Given the description of an element on the screen output the (x, y) to click on. 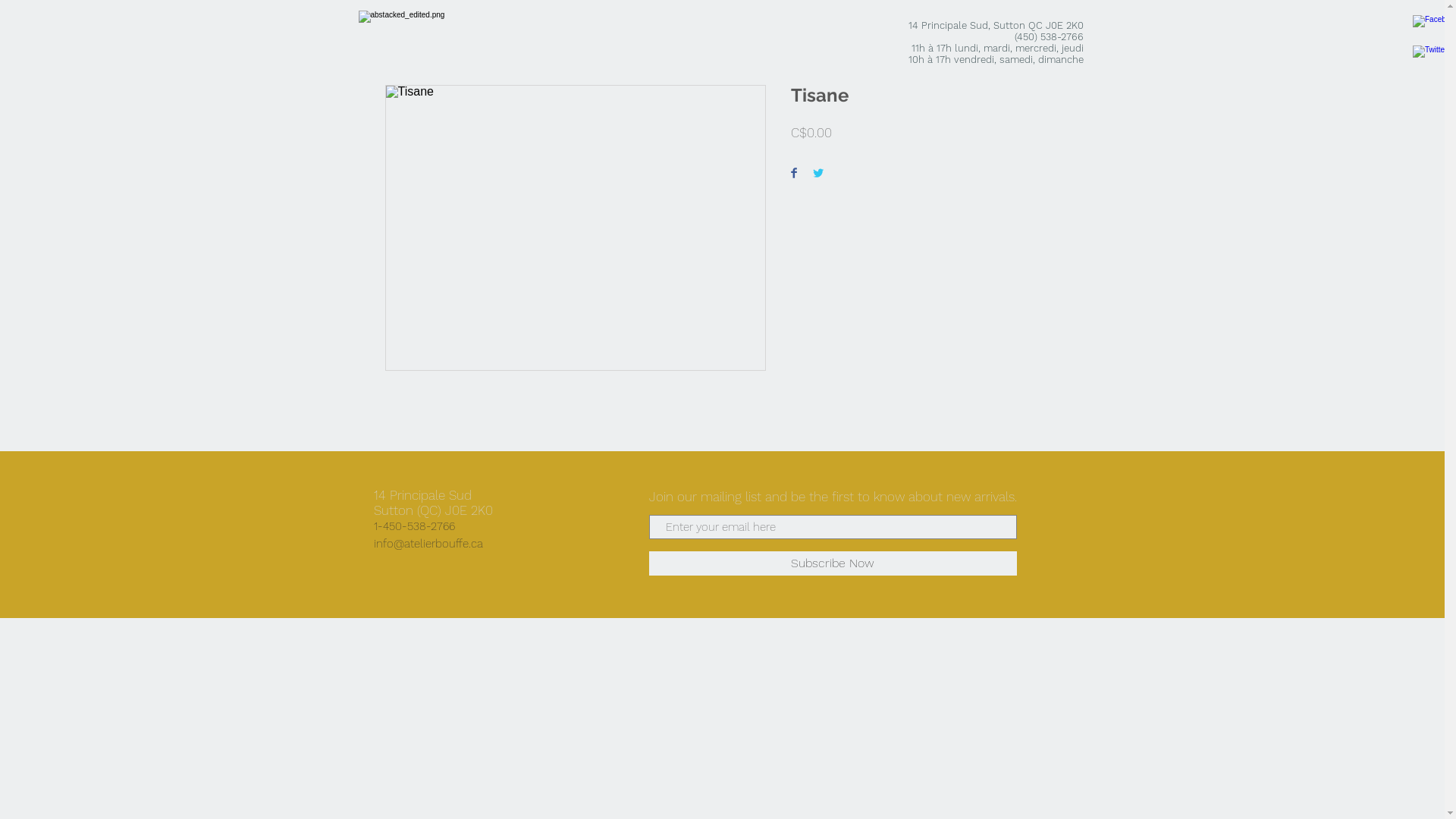
Subscribe Now Element type: text (832, 563)
abstacked.jpg Element type: hover (417, 36)
info@atelierbouffe.ca Element type: text (427, 543)
